Given the description of an element on the screen output the (x, y) to click on. 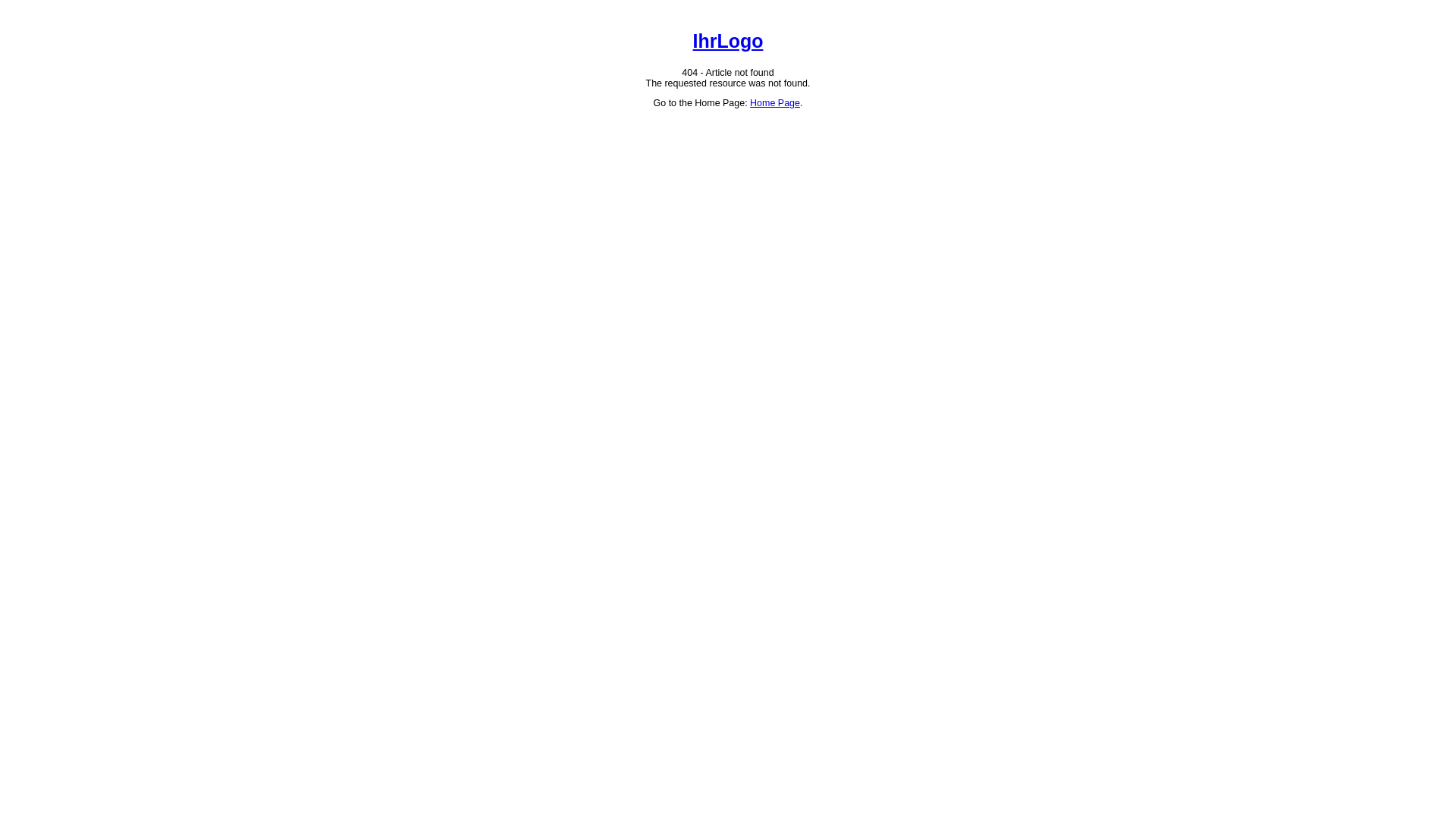
Home Page Element type: text (774, 102)
IhrLogo Element type: text (728, 40)
